Given the description of an element on the screen output the (x, y) to click on. 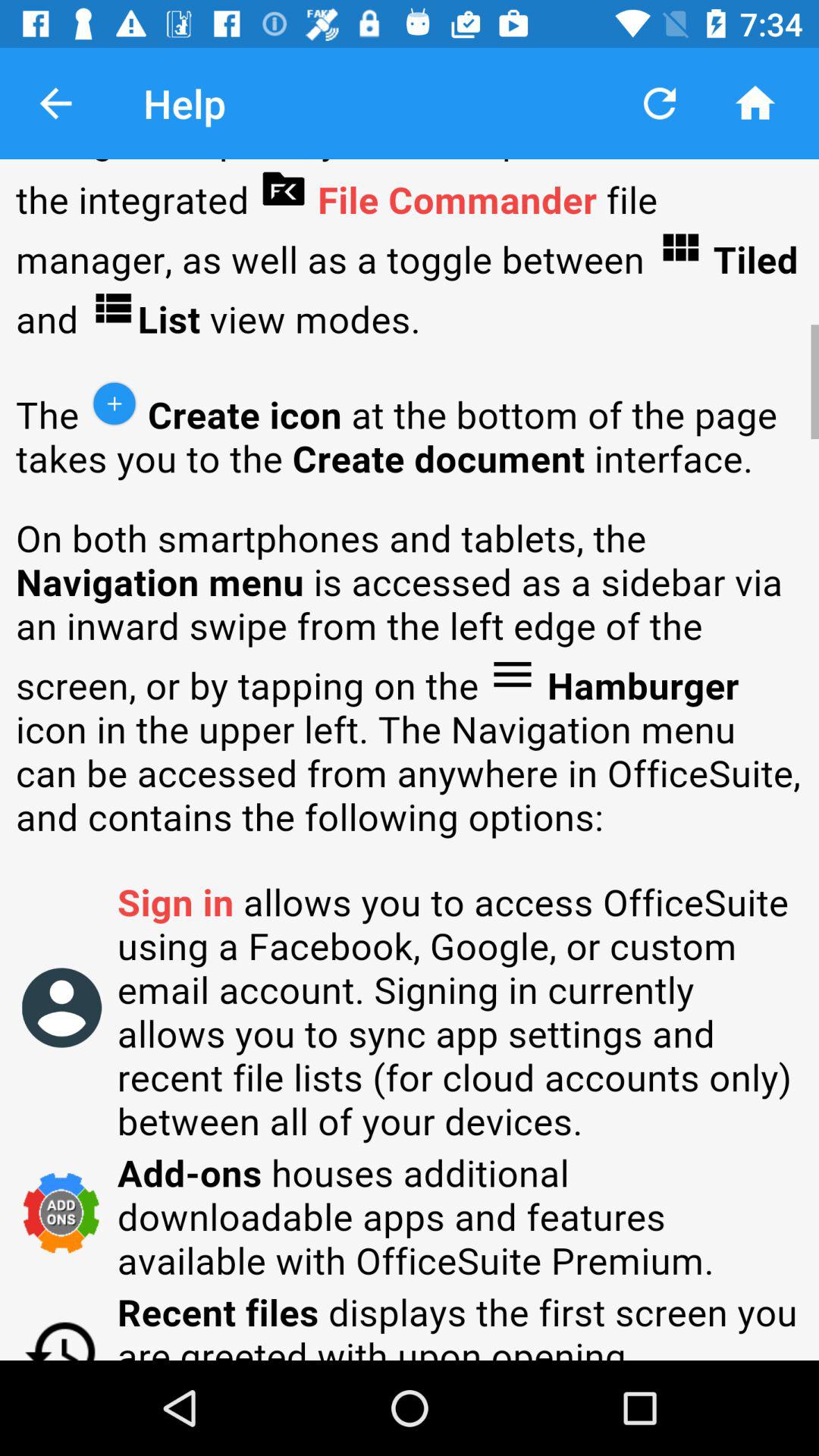
go to previous page (55, 103)
